Given the description of an element on the screen output the (x, y) to click on. 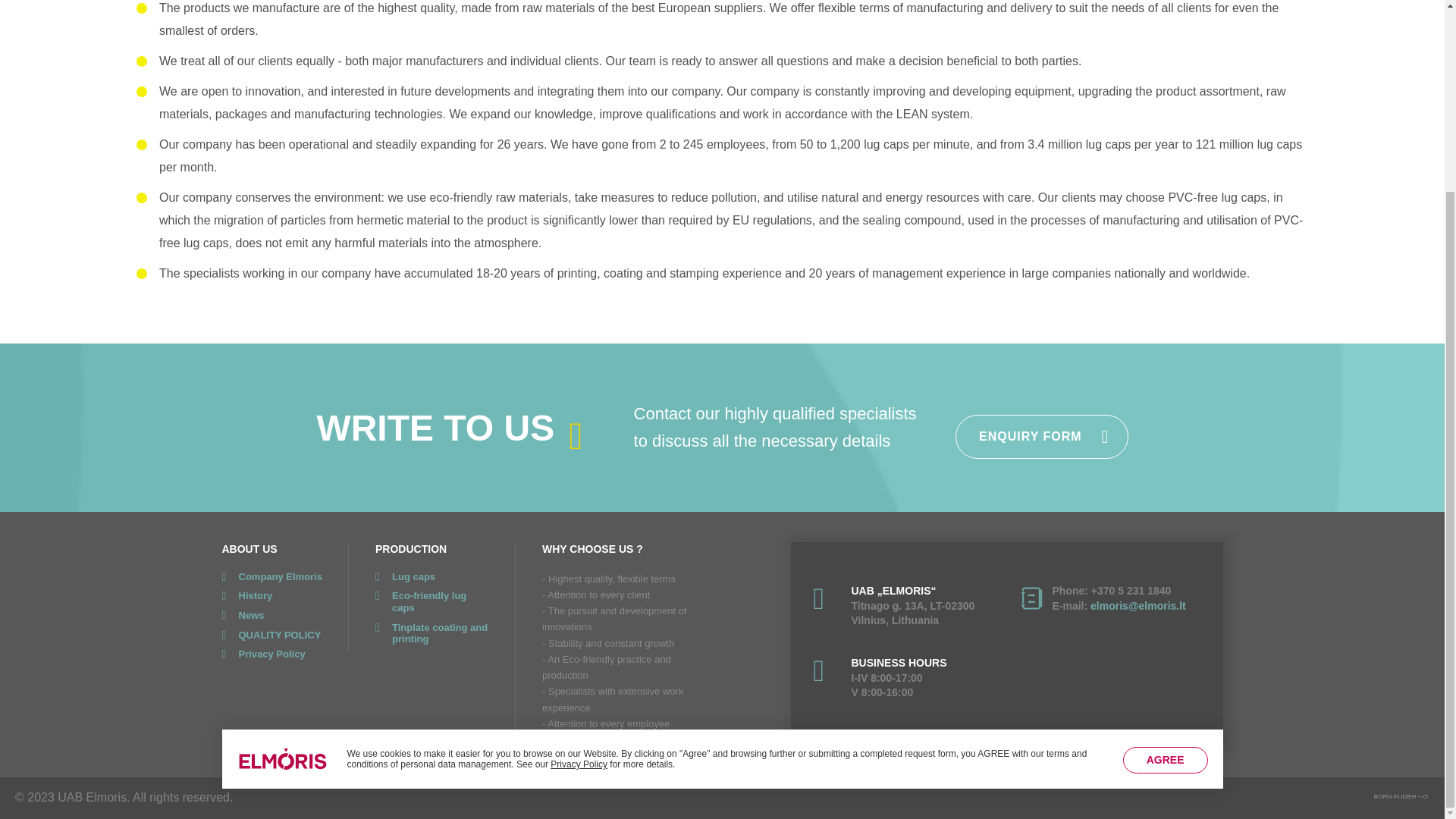
Company Elmoris (271, 576)
Eco-friendly lug caps (432, 601)
History (271, 595)
Lug caps (432, 576)
Tinplate coating and printing (432, 633)
AGREE (1165, 519)
Privacy Policy (271, 654)
QUALITY POLICY (271, 635)
IDEA - Web solutions (1401, 796)
News (271, 615)
Privacy Policy (578, 523)
ENQUIRY FORM (1041, 436)
